Given the description of an element on the screen output the (x, y) to click on. 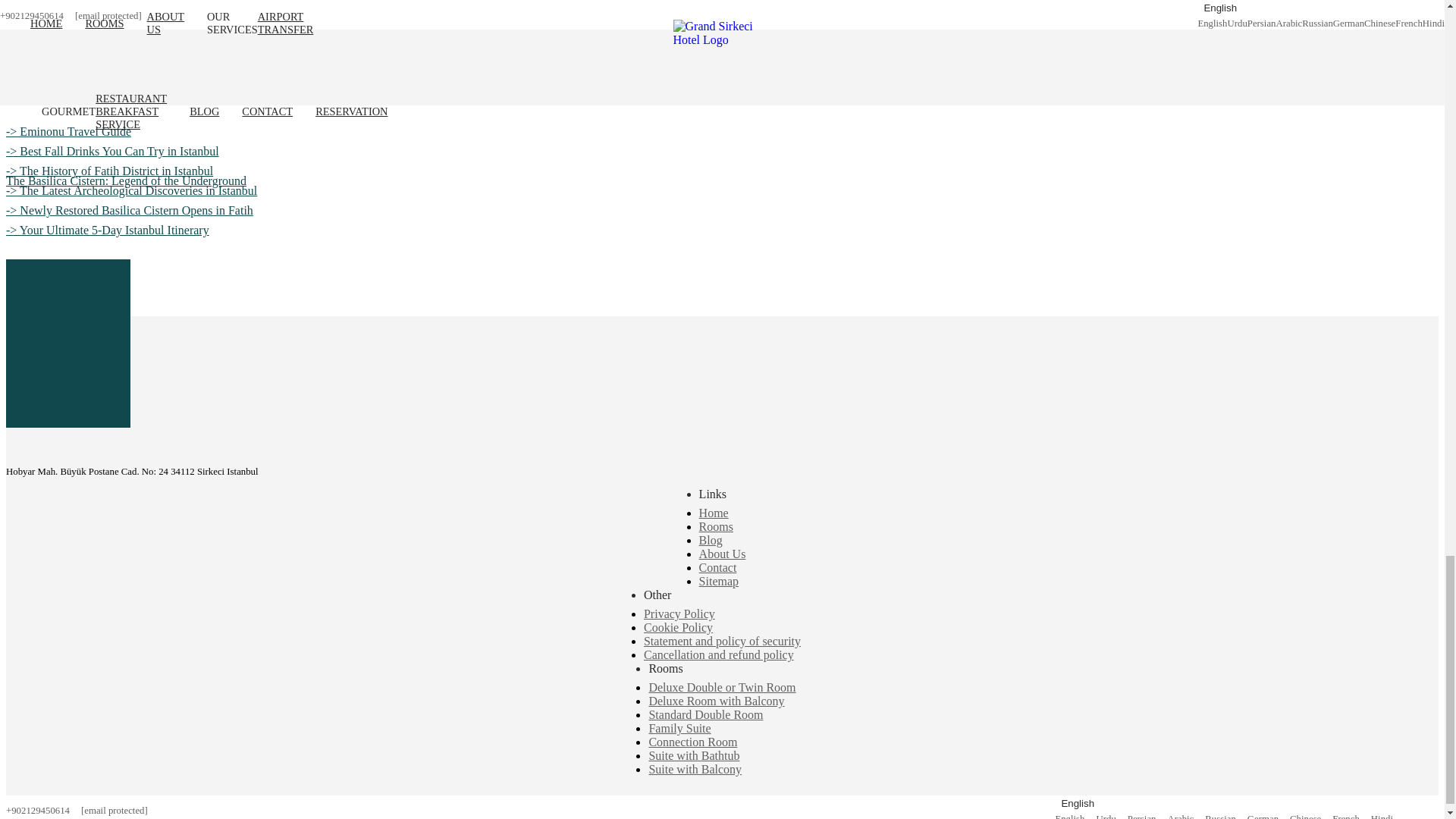
Sitemap (718, 581)
